Given the description of an element on the screen output the (x, y) to click on. 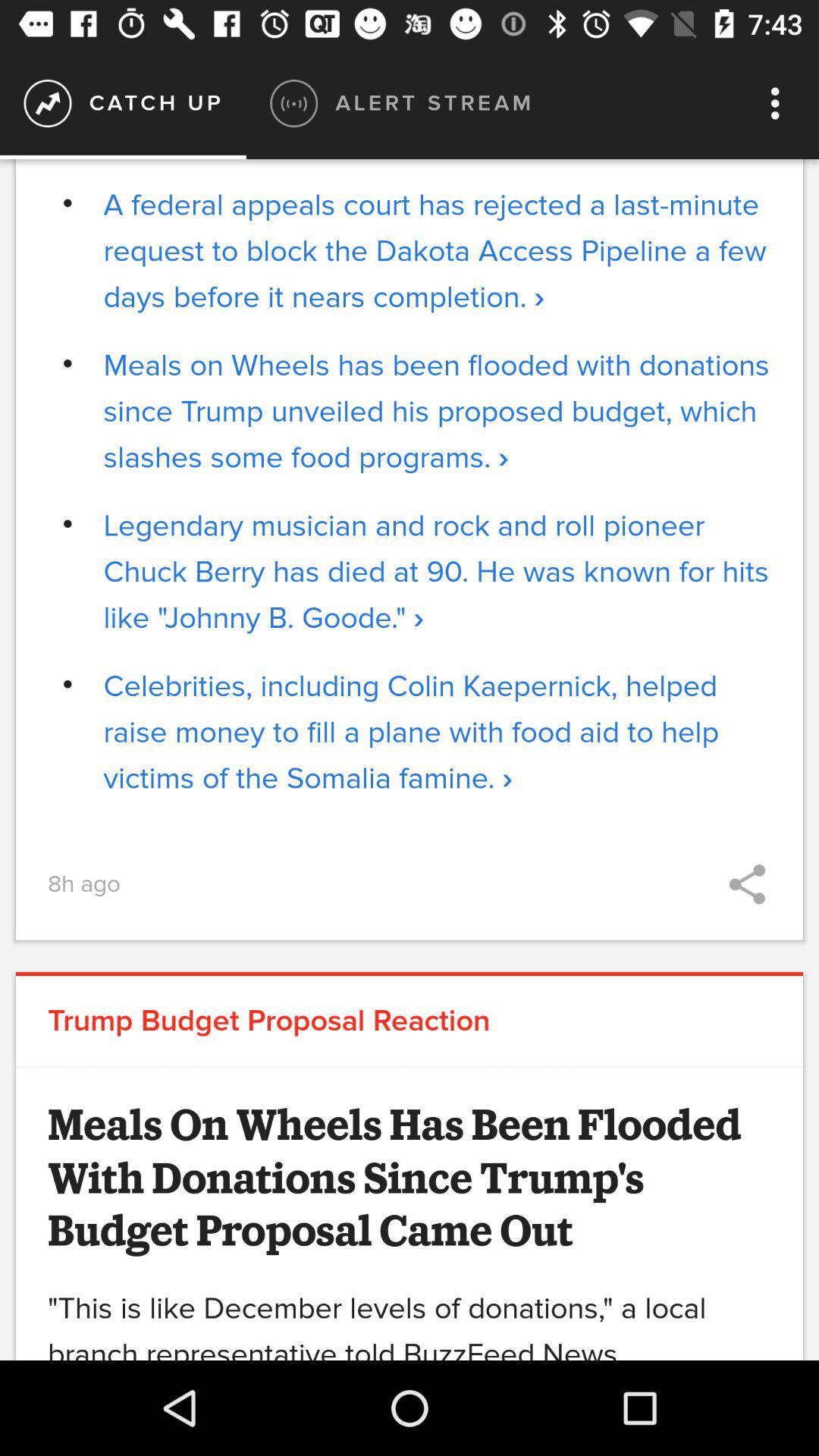
launch icon on the right (747, 884)
